Given the description of an element on the screen output the (x, y) to click on. 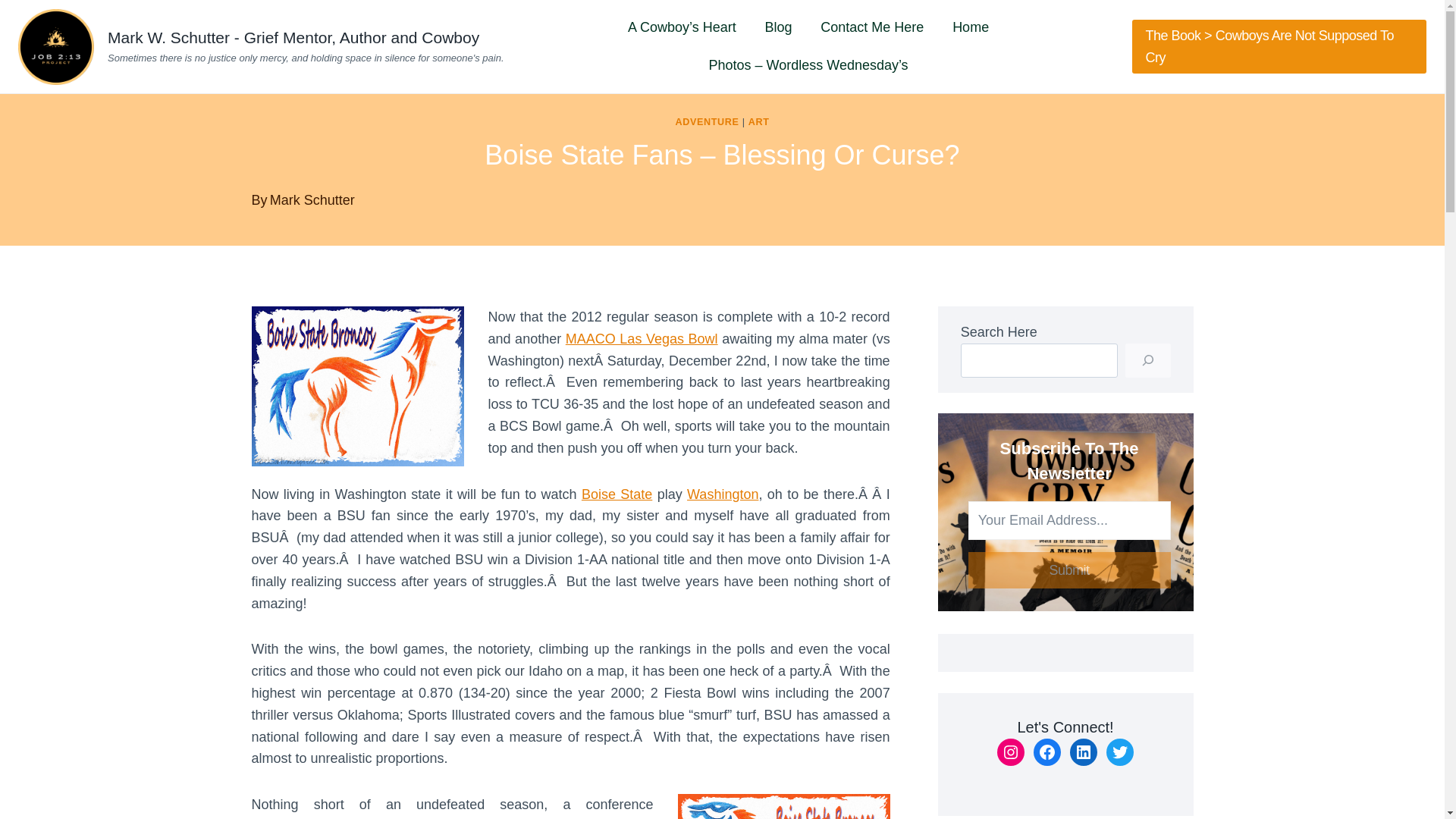
BSU - Orange (783, 806)
BSU - Blue (357, 386)
ADVENTURE (706, 122)
Mark Schutter (312, 200)
ART (759, 122)
Boise State (616, 494)
MAACO Las Vegas Bowl (641, 338)
Washington (722, 494)
Blog (778, 26)
